Given the description of an element on the screen output the (x, y) to click on. 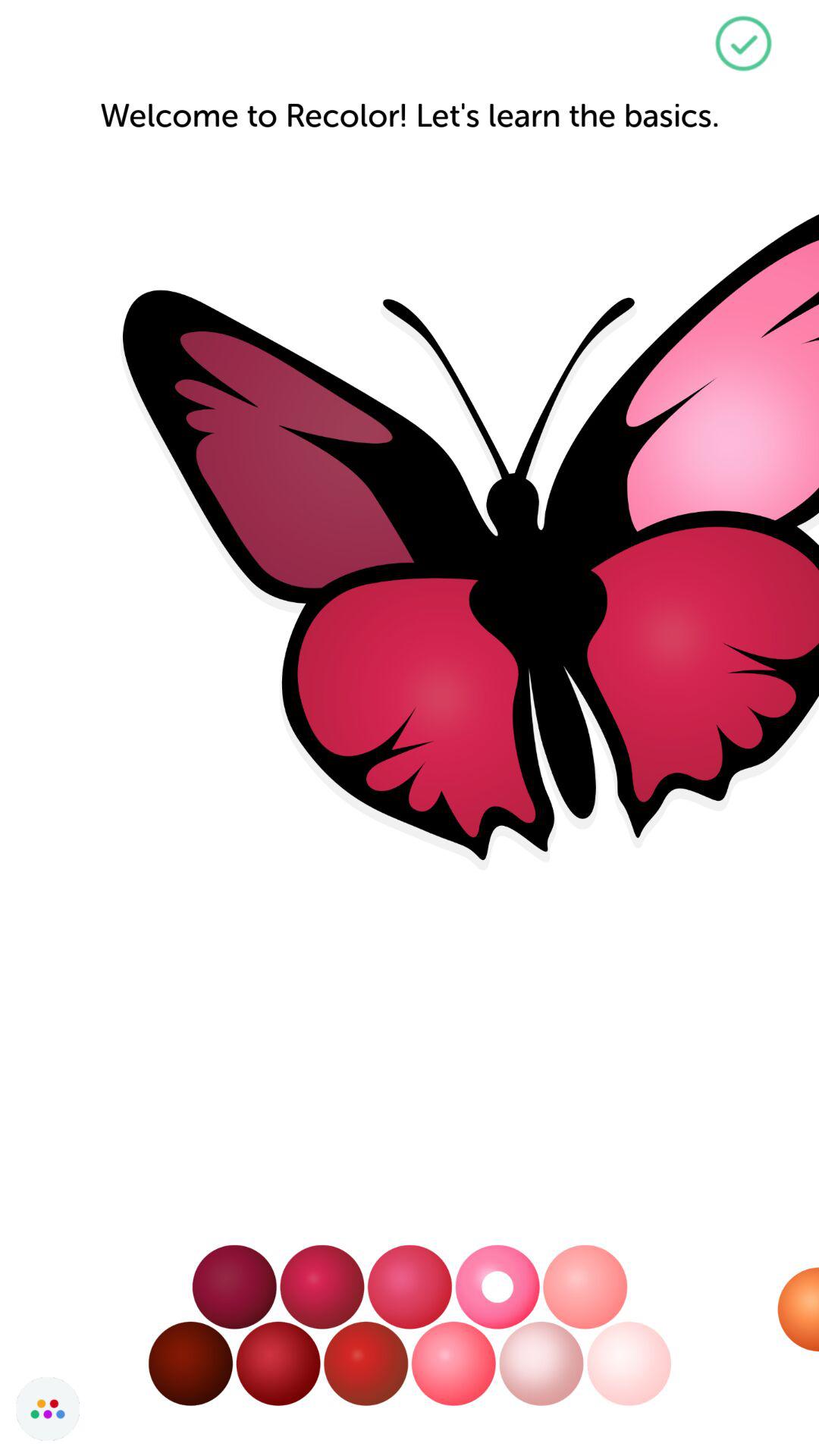
accept changes (743, 43)
